Given the description of an element on the screen output the (x, y) to click on. 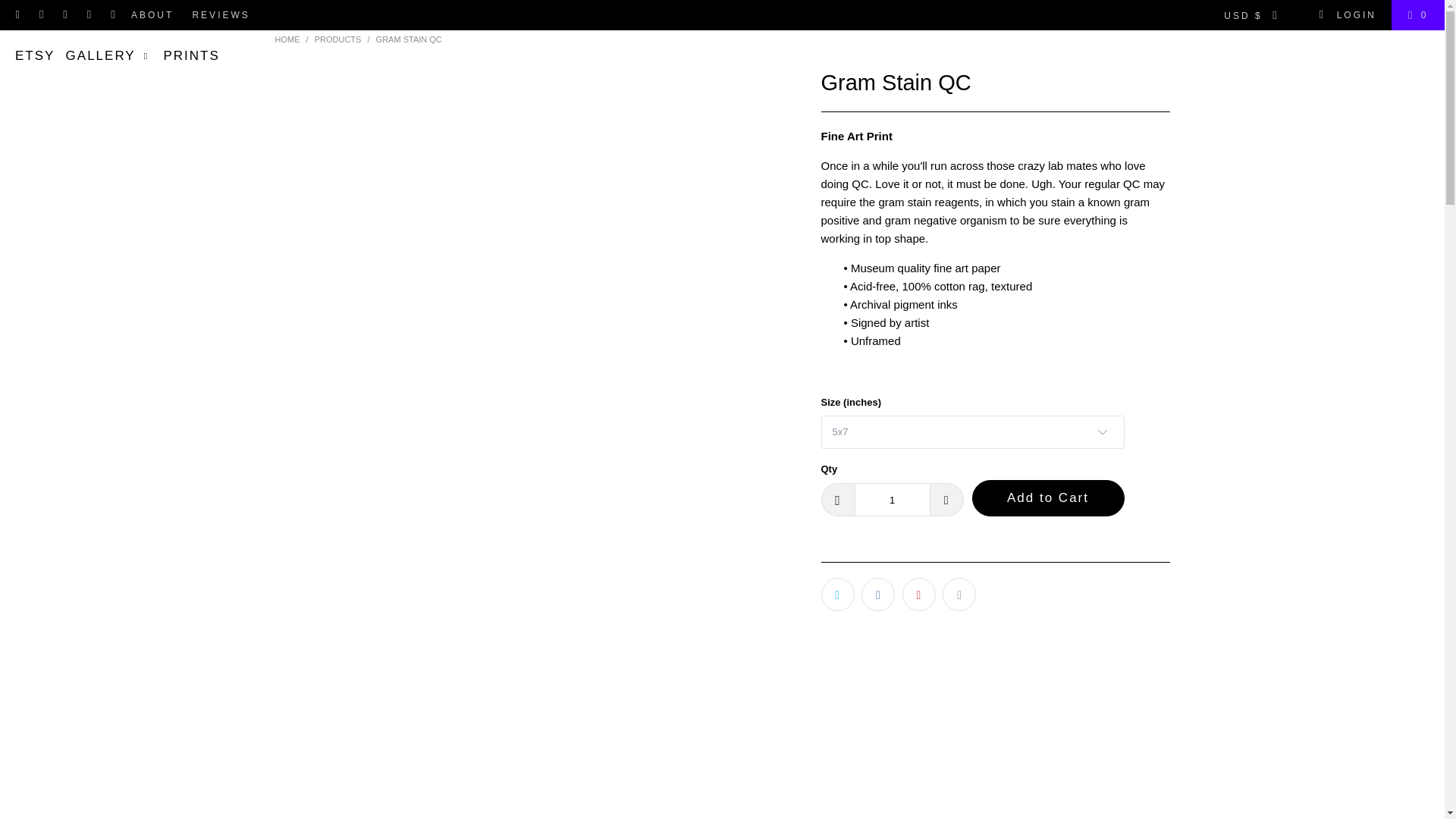
Sandra Black on Twitter (17, 14)
Share this on Twitter (837, 594)
Sandra Black on Tumblr (65, 14)
Email Sandra Black (112, 14)
Sandra Black on Facebook (41, 14)
Sandra Black on Instagram (89, 14)
My Account  (1347, 15)
Share this on Facebook (878, 594)
Sandra Black (287, 39)
1 (891, 499)
Share this on Pinterest (919, 594)
Email this to a friend (958, 594)
Products (337, 39)
